Given the description of an element on the screen output the (x, y) to click on. 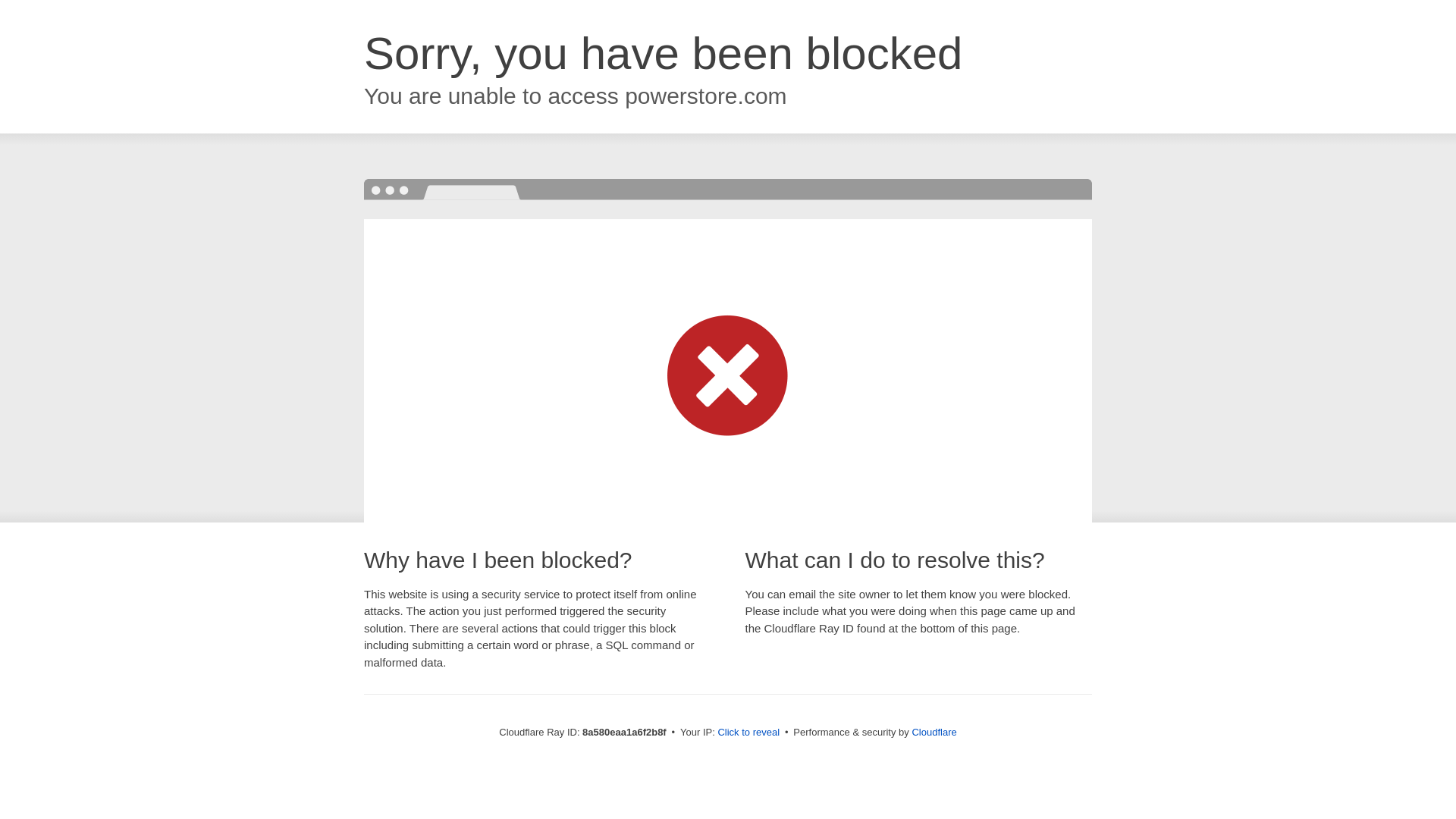
Click to reveal (747, 732)
Cloudflare (933, 731)
